Given the description of an element on the screen output the (x, y) to click on. 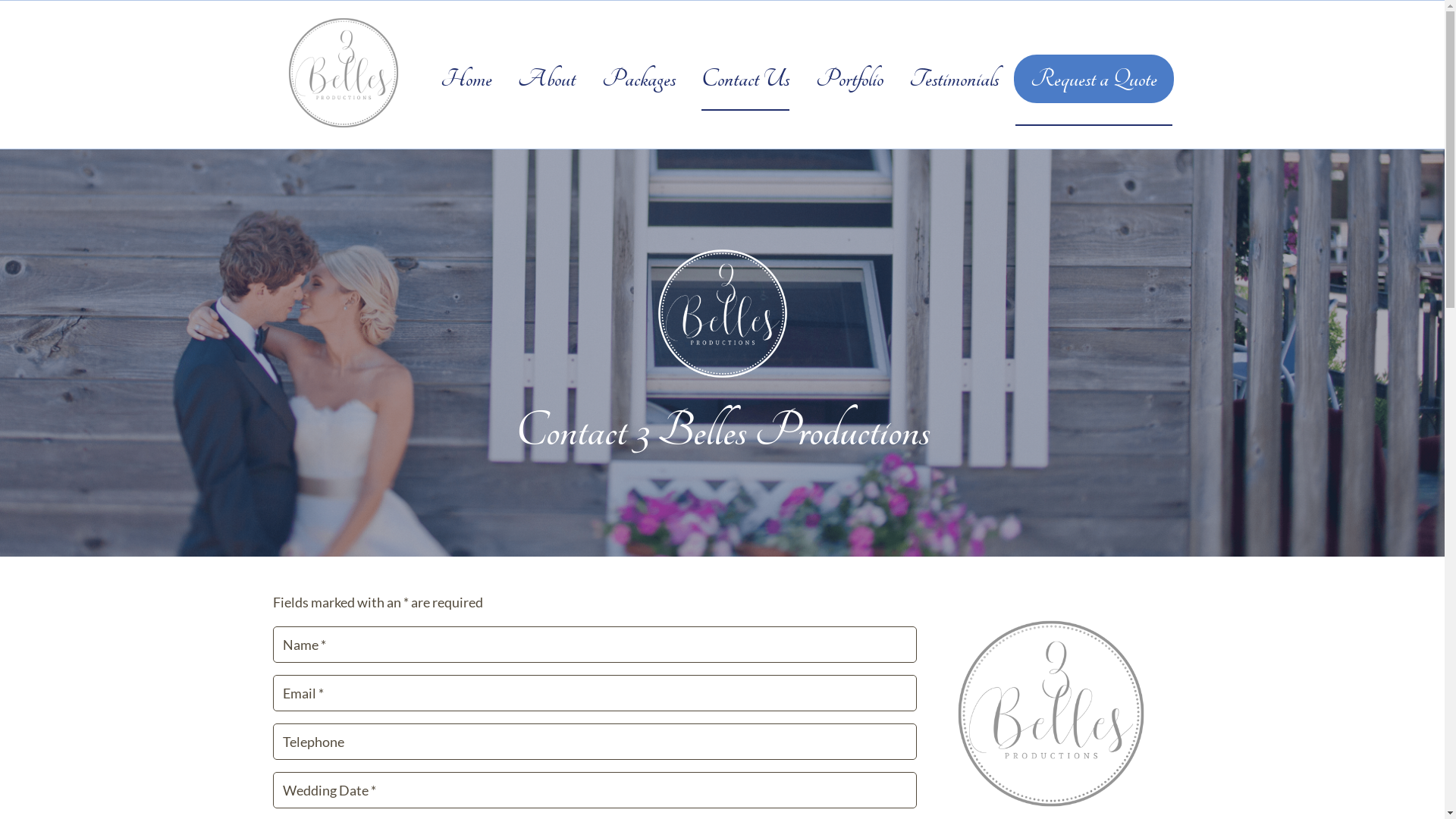
Contact Us Element type: text (745, 78)
Home Element type: text (465, 78)
Packages Element type: text (638, 78)
belles-white Element type: hover (722, 312)
Testimonials Element type: text (953, 78)
About Element type: text (546, 78)
Request a Quote Element type: text (1093, 78)
Portfolio Element type: text (849, 78)
